Given the description of an element on the screen output the (x, y) to click on. 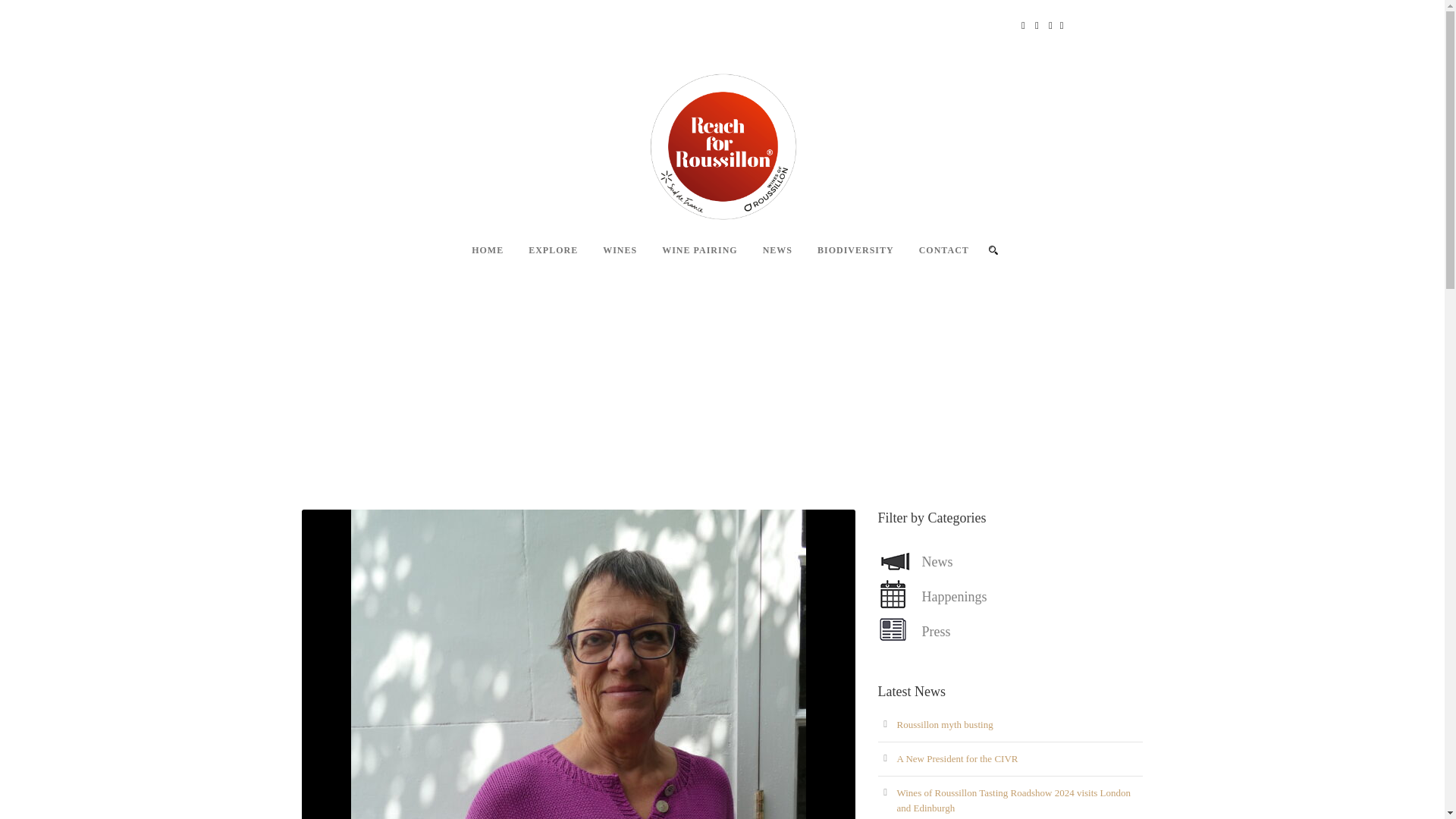
HOME (474, 259)
NEWS (765, 259)
WINES (607, 259)
WINE PAIRING (686, 259)
EXPLORE (540, 259)
